Given the description of an element on the screen output the (x, y) to click on. 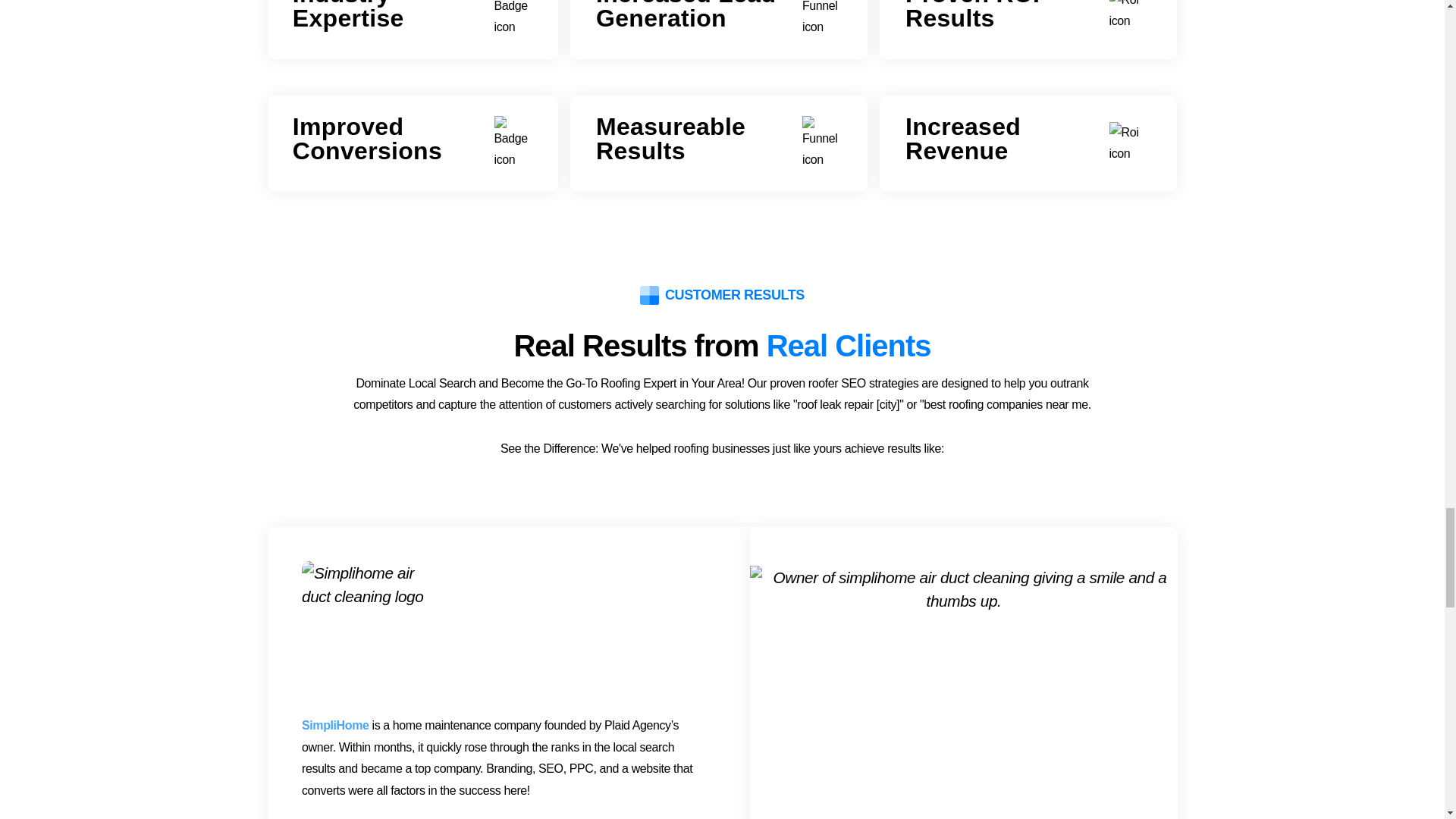
Roofer SEO Agency (1130, 20)
Roofer SEO Agency (514, 26)
Roofer SEO Agency (822, 26)
